Given the description of an element on the screen output the (x, y) to click on. 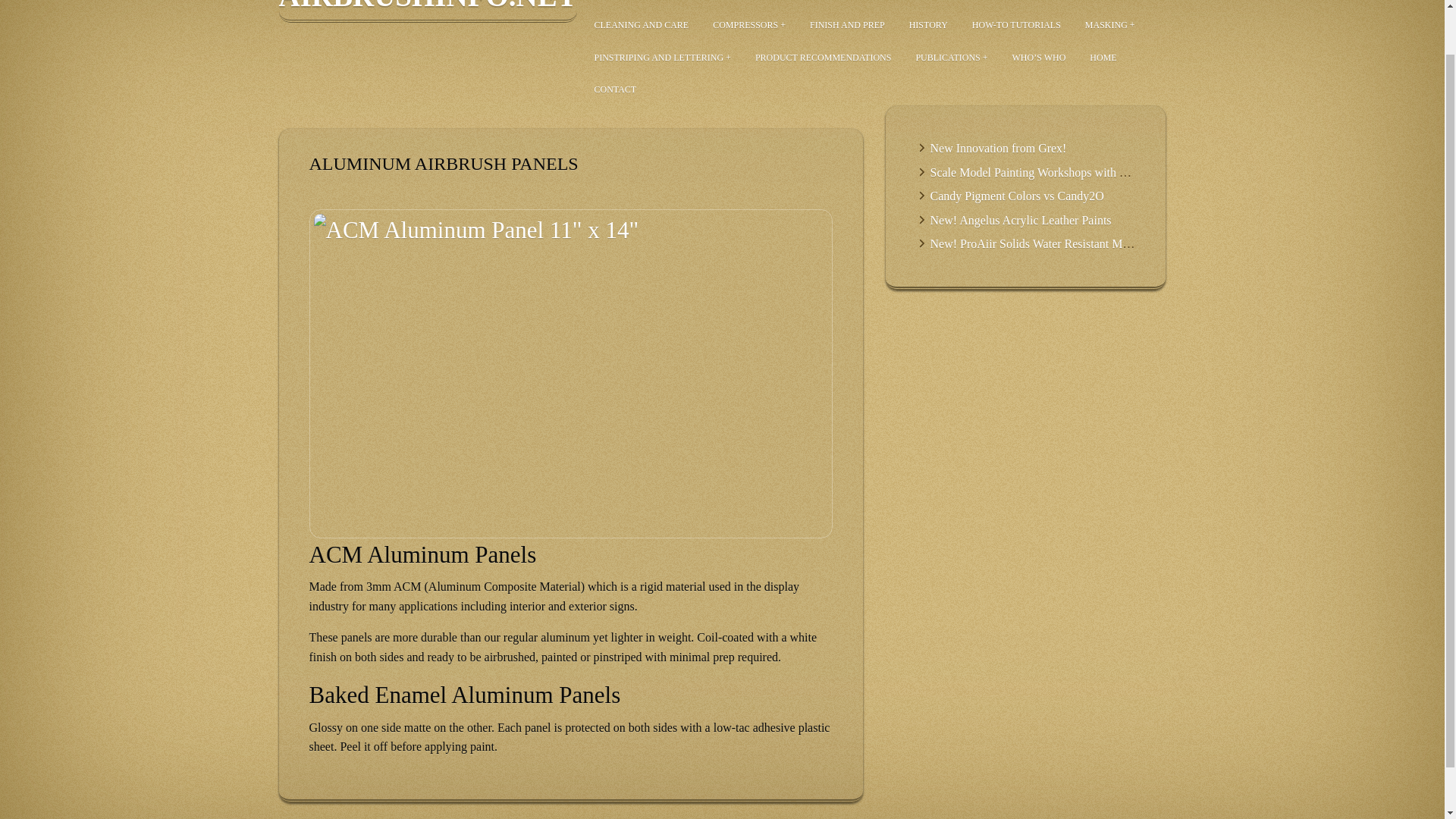
AIRBRUSH (619, 4)
AIRBRUSHINFO.NET (427, 11)
